Given the description of an element on the screen output the (x, y) to click on. 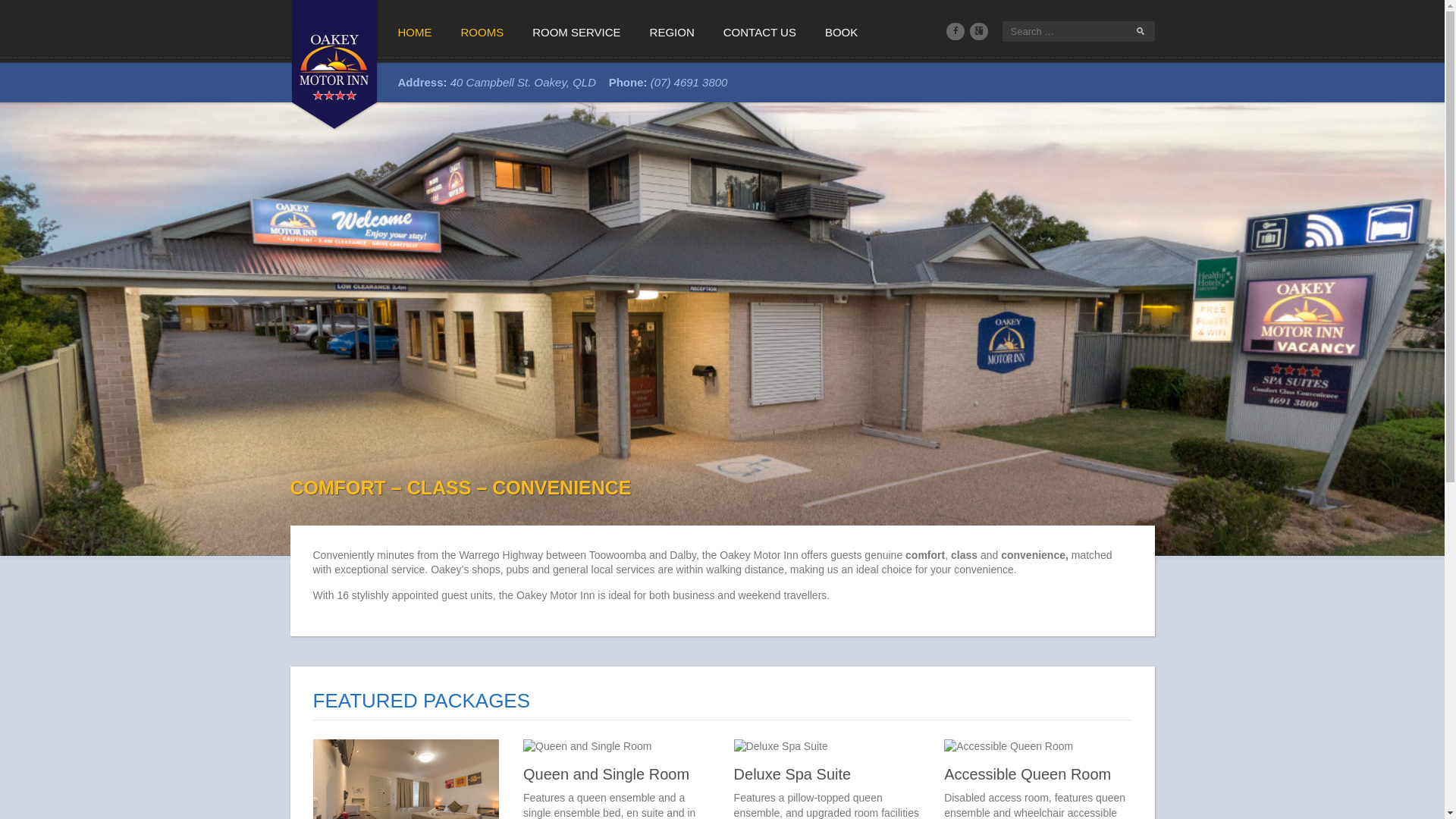
Oakey Motor Inn Element type: hover (333, 62)
HOME Element type: text (413, 31)
Search Element type: text (18, 12)
REGION Element type: text (671, 31)
ROOMS Element type: text (481, 31)
BOOK Element type: text (840, 31)
ROOM SERVICE Element type: text (575, 31)
CONTACT US Element type: text (758, 31)
